Given the description of an element on the screen output the (x, y) to click on. 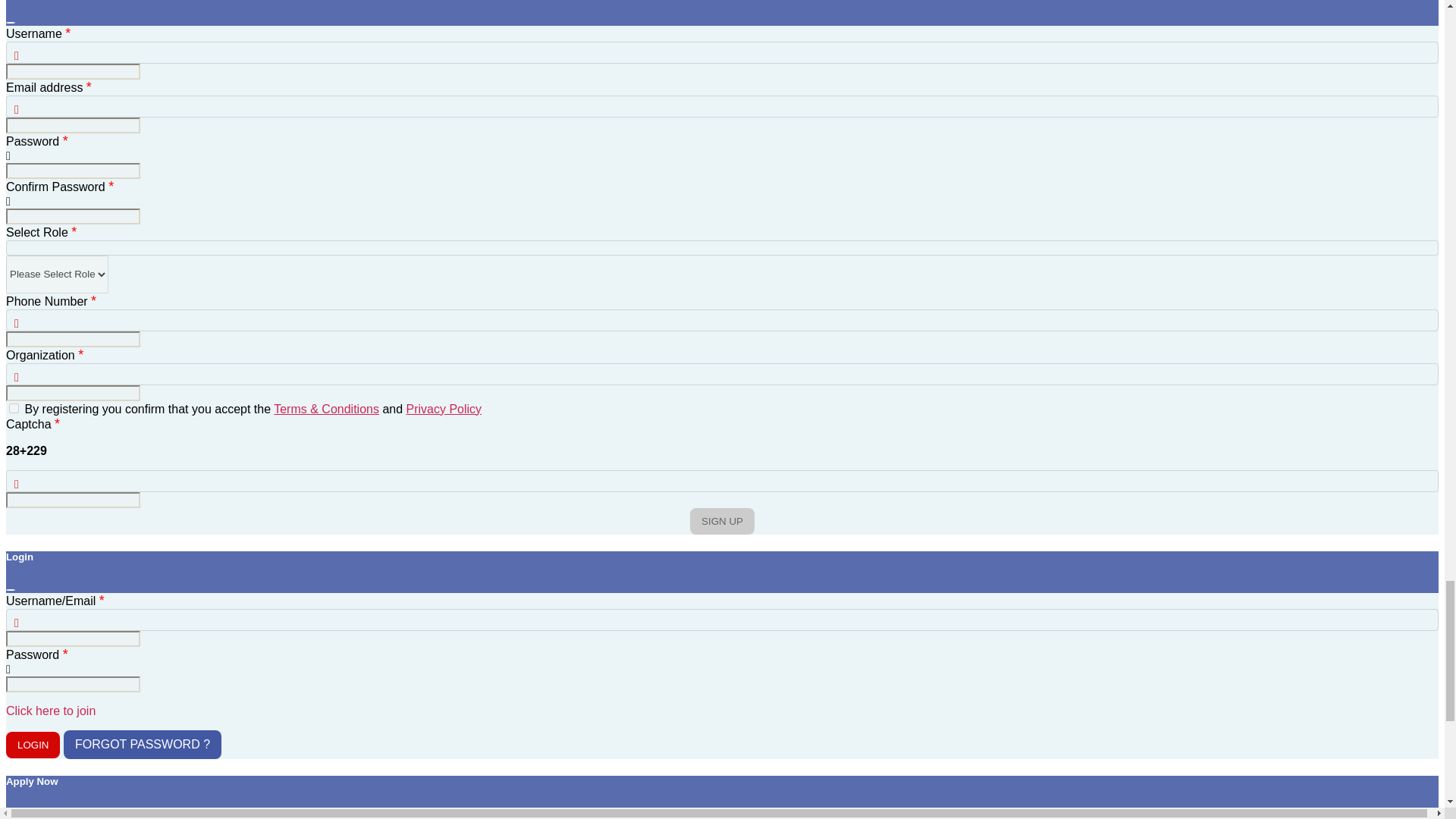
FORGOT PASSWORD ? (142, 744)
Click here to join (50, 710)
on (13, 408)
Privacy Policy (443, 408)
LOGIN (32, 745)
SIGN UP (722, 520)
